Given the description of an element on the screen output the (x, y) to click on. 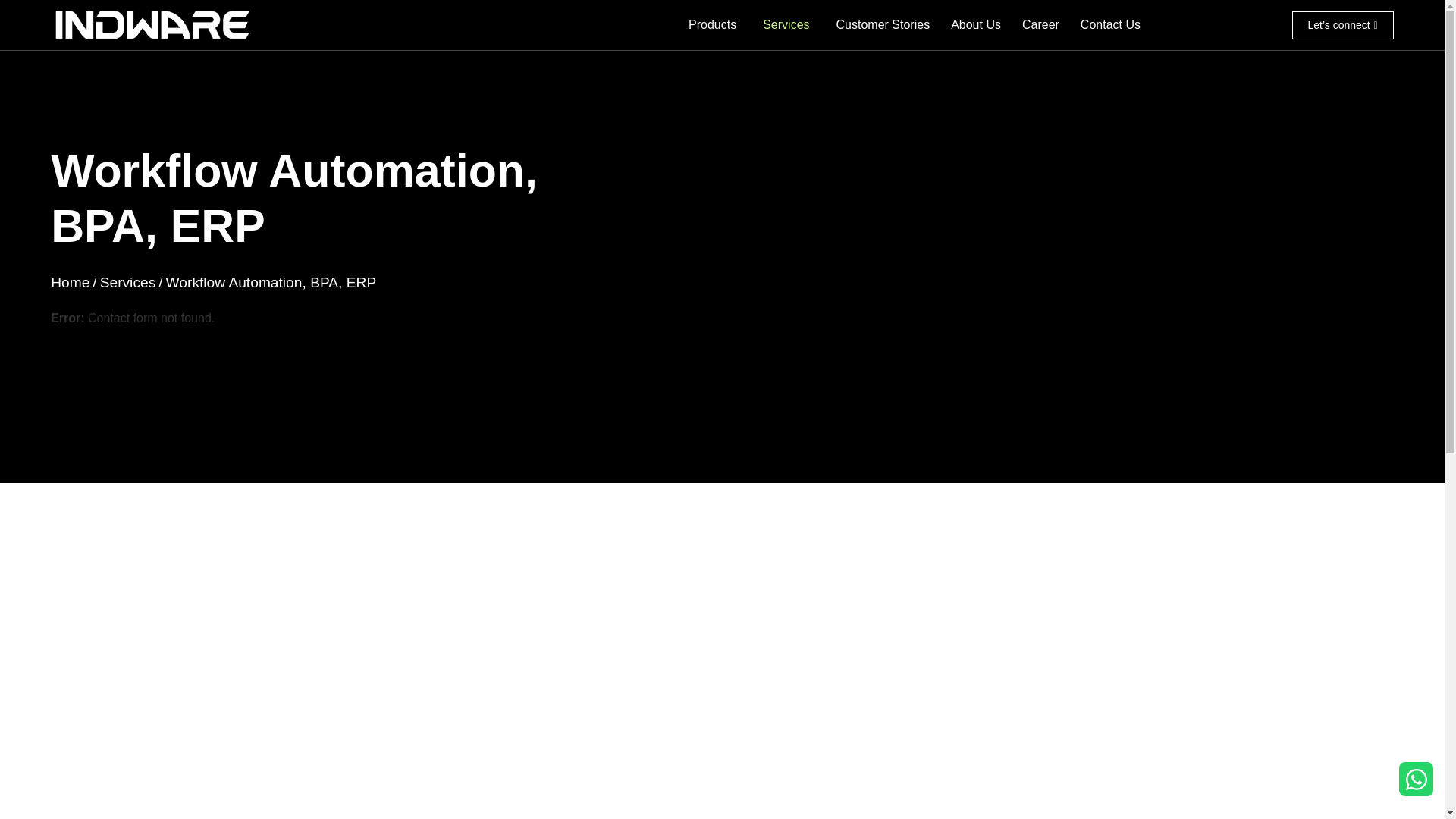
Contact Us (1109, 24)
Home (69, 282)
Customer Stories (882, 24)
Services (788, 24)
About Us (975, 24)
Career (1040, 24)
Products (714, 24)
